Given the description of an element on the screen output the (x, y) to click on. 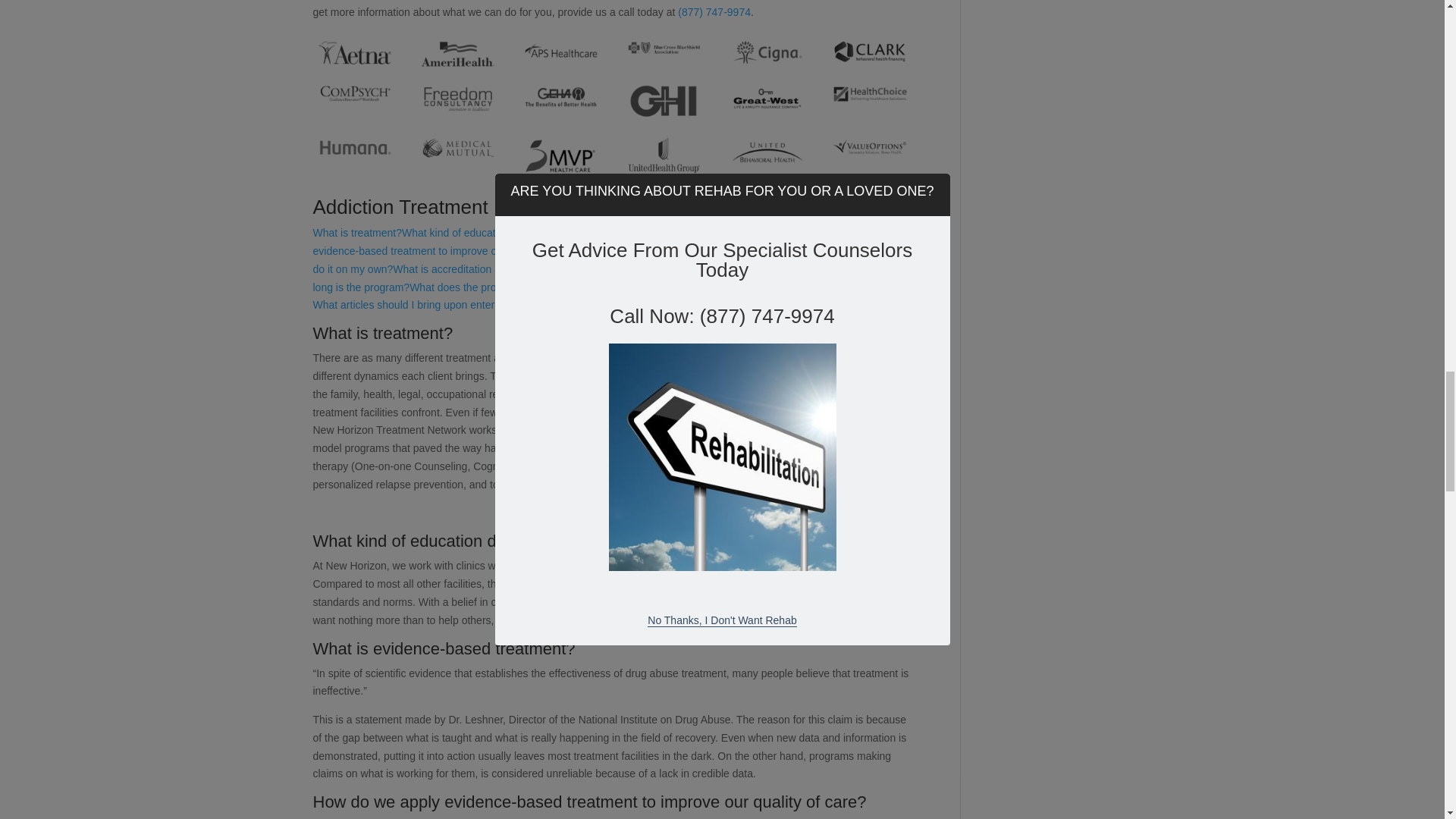
insurance-logos (614, 106)
